Given the description of an element on the screen output the (x, y) to click on. 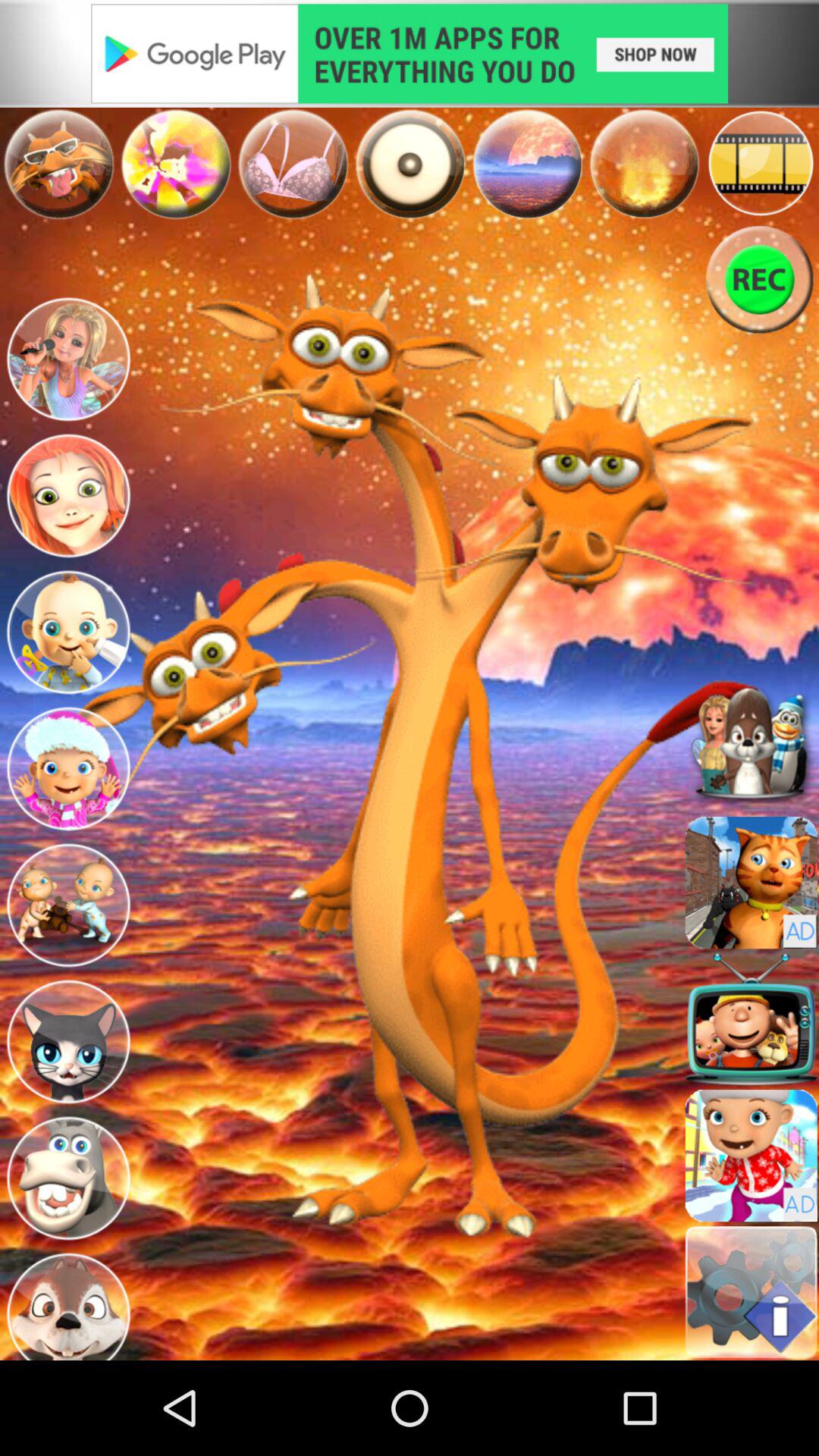
games (175, 163)
